Given the description of an element on the screen output the (x, y) to click on. 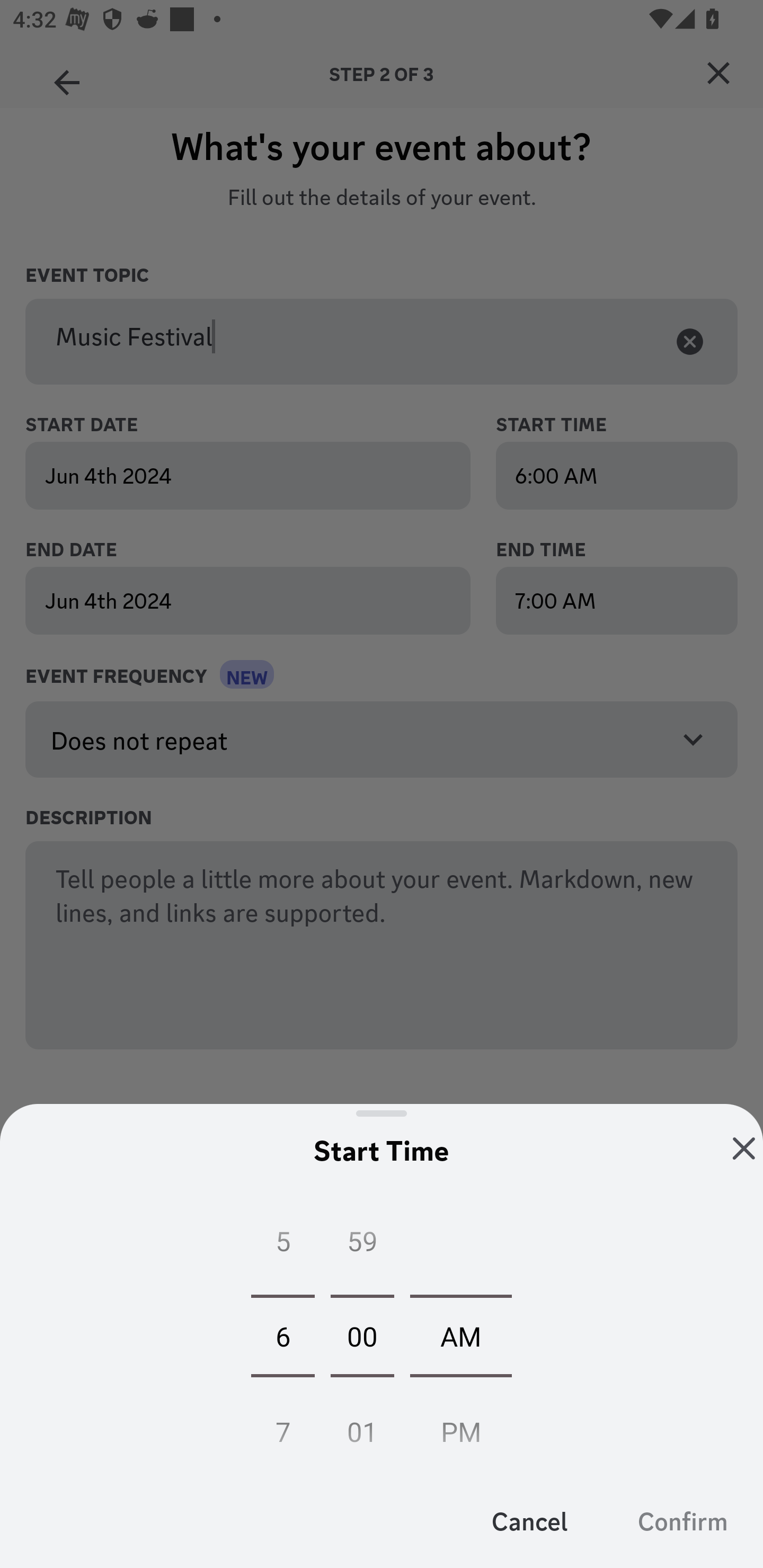
Close (743, 1148)
 5  (282, 1245)
59 (362, 1245)
 6  (282, 1335)
00 (362, 1335)
 AM  (460, 1335)
 7  (282, 1425)
01 (362, 1425)
 PM  (460, 1425)
Cancel (529, 1520)
Confirm (682, 1520)
